Given the description of an element on the screen output the (x, y) to click on. 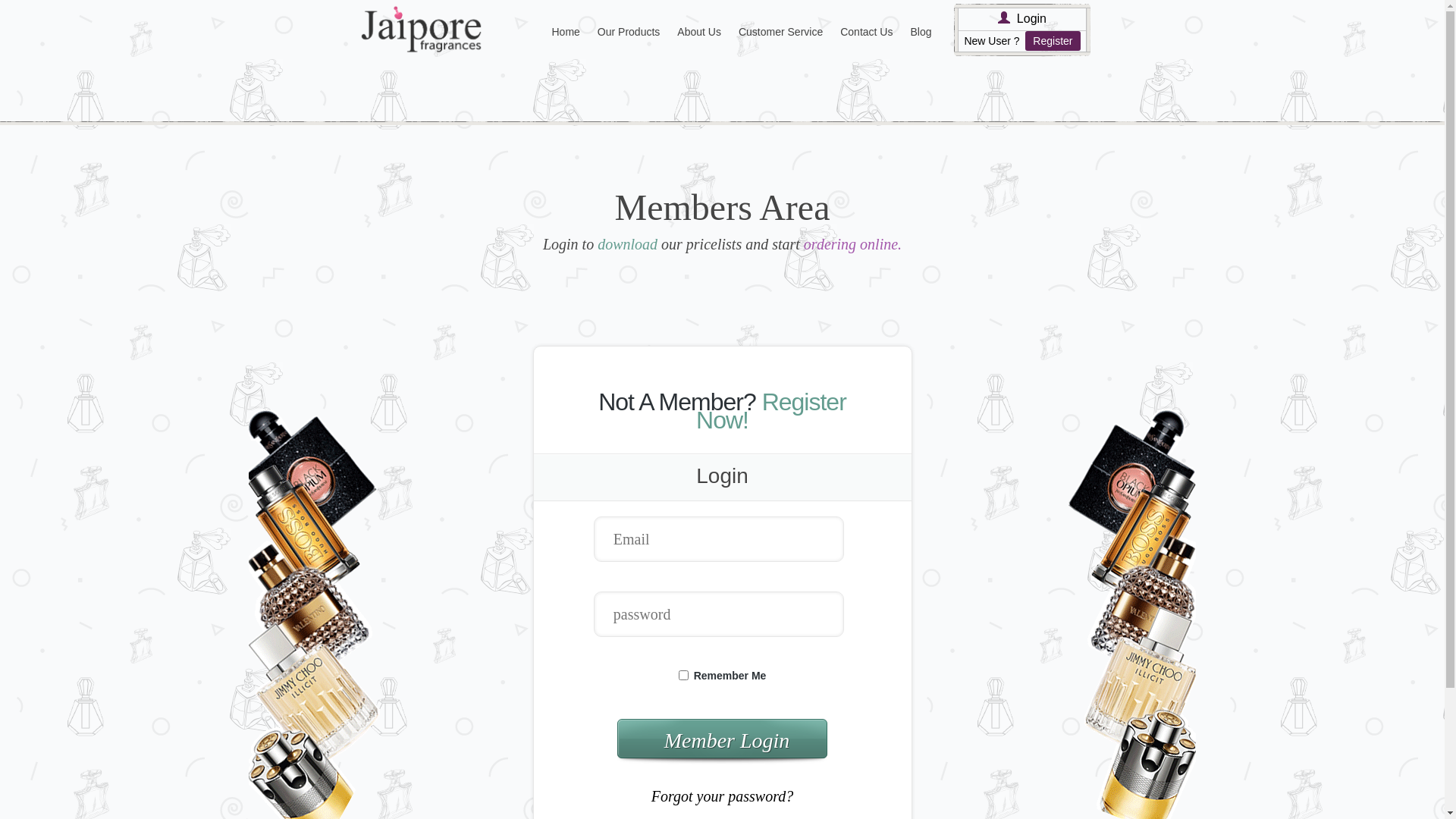
Register Now! Element type: text (771, 410)
Contact Us Element type: text (866, 31)
Login Element type: text (1031, 19)
Blog Element type: text (920, 31)
About Us Element type: text (698, 31)
Home Element type: text (565, 31)
Member Login Element type: text (722, 741)
Customer Service Element type: text (780, 31)
New User ?  Register Element type: text (1021, 40)
Our Products Element type: text (628, 31)
Forgot your password? Element type: text (722, 795)
Jaipore Fragrances Element type: hover (420, 29)
